Given the description of an element on the screen output the (x, y) to click on. 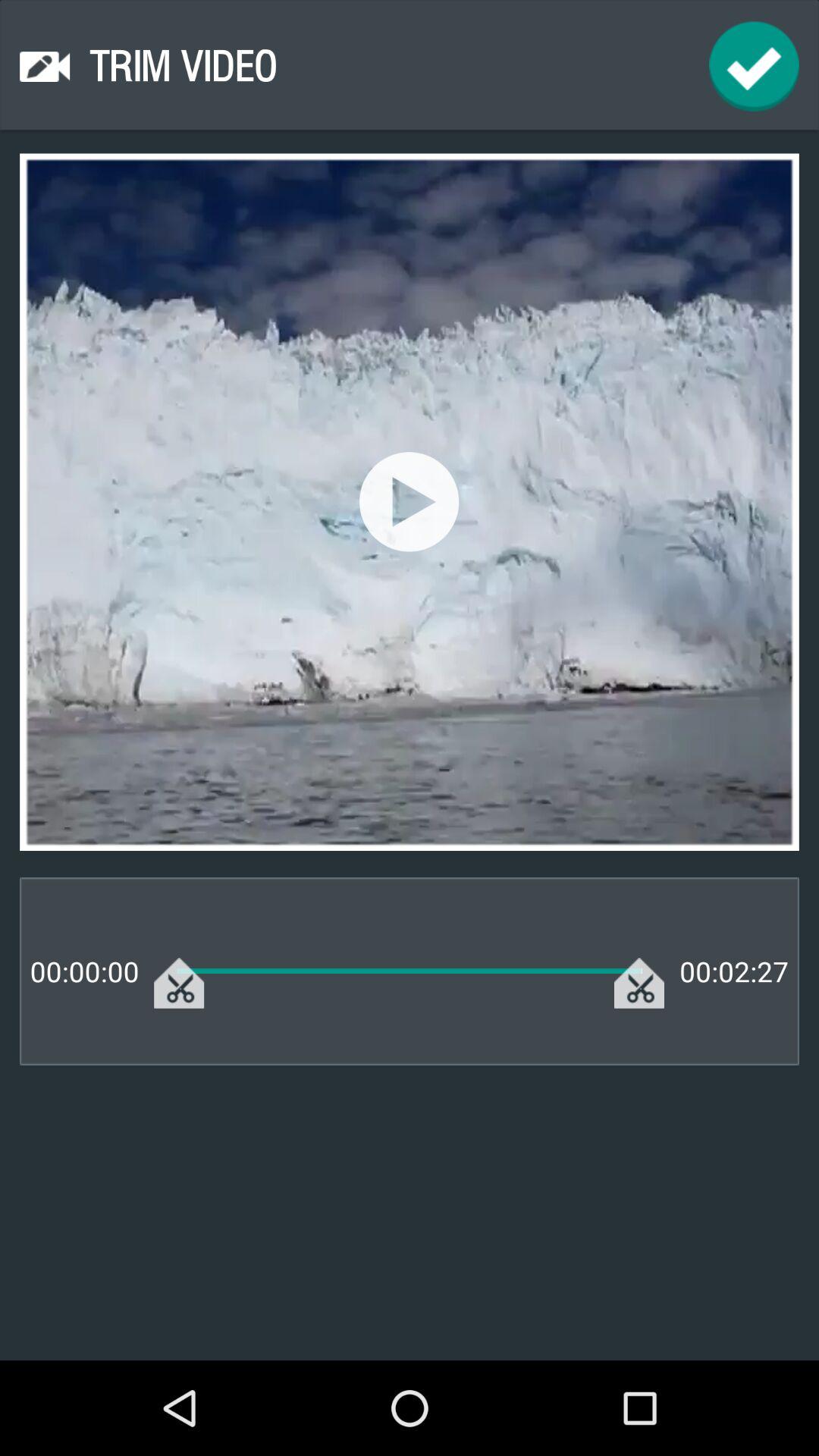
finish editing video (754, 66)
